Given the description of an element on the screen output the (x, y) to click on. 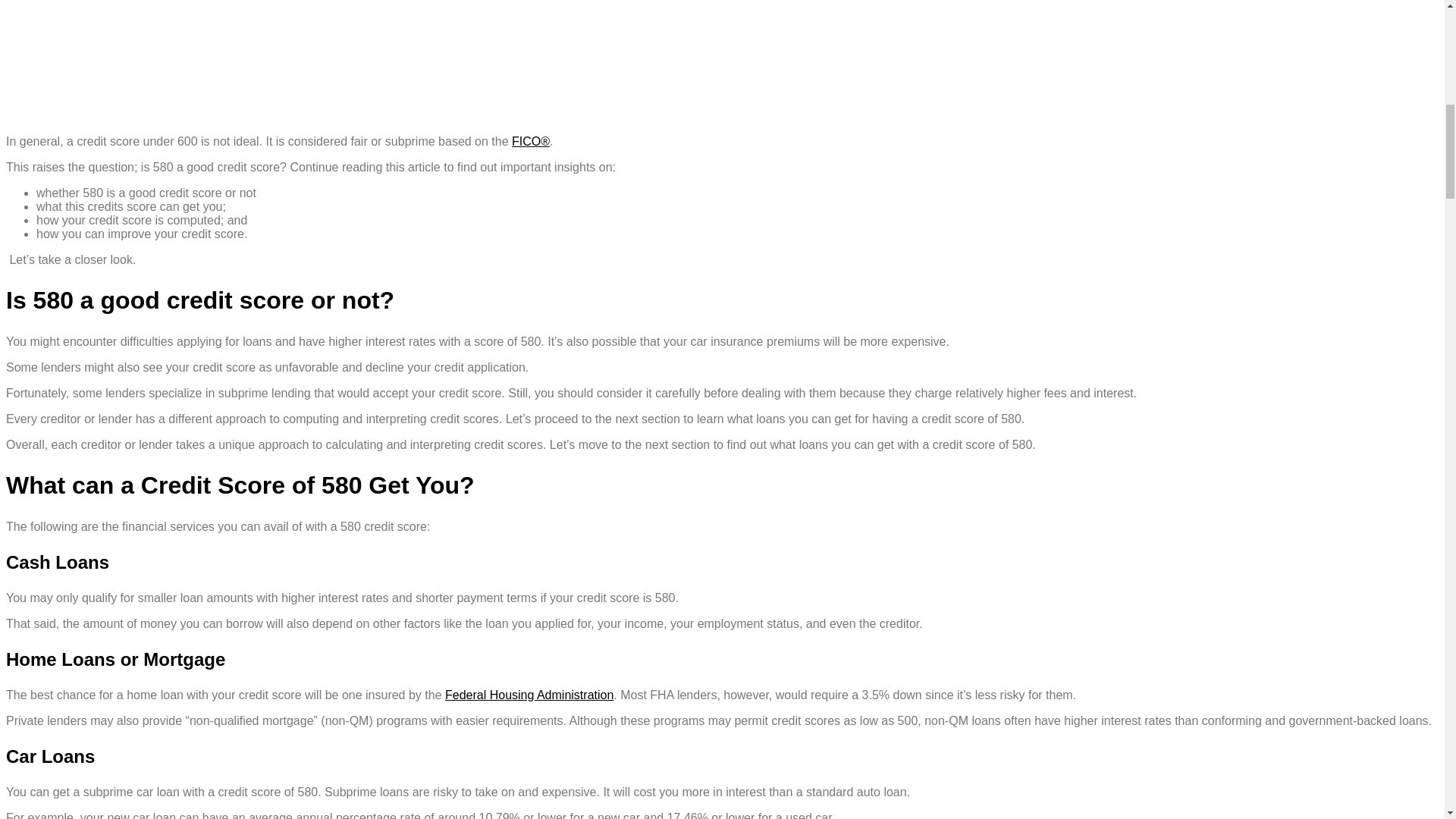
Federal Housing Administration (528, 694)
